Given the description of an element on the screen output the (x, y) to click on. 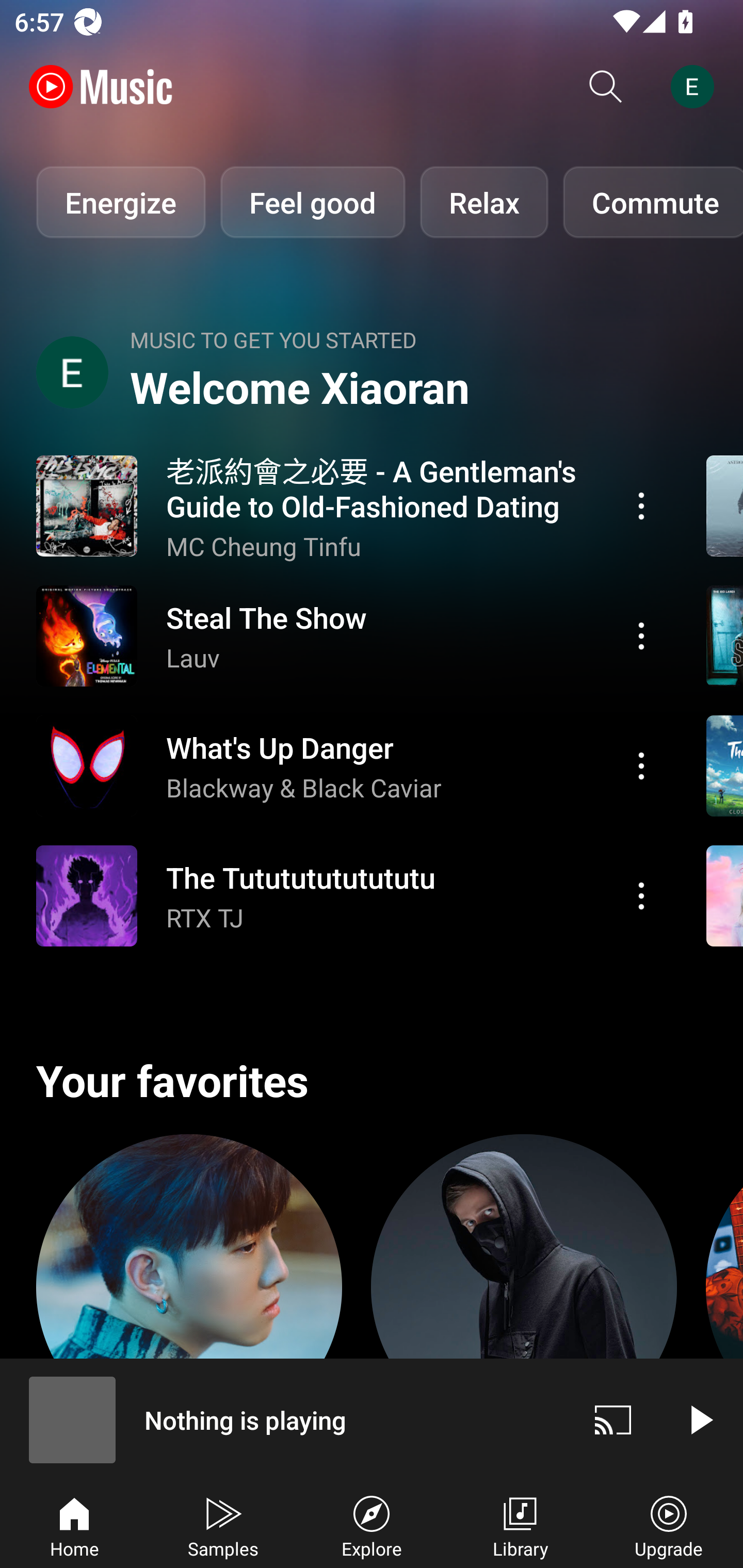
Search (605, 86)
Account (696, 86)
Action menu (349, 505)
Action menu (641, 505)
Action menu (349, 635)
Action menu (641, 635)
Action menu (349, 765)
Action menu (641, 765)
Action menu (349, 896)
Action menu (641, 896)
Nothing is playing (284, 1419)
Cast. Disconnected (612, 1419)
Play video (699, 1419)
Home (74, 1524)
Samples (222, 1524)
Explore (371, 1524)
Library (519, 1524)
Upgrade (668, 1524)
